Given the description of an element on the screen output the (x, y) to click on. 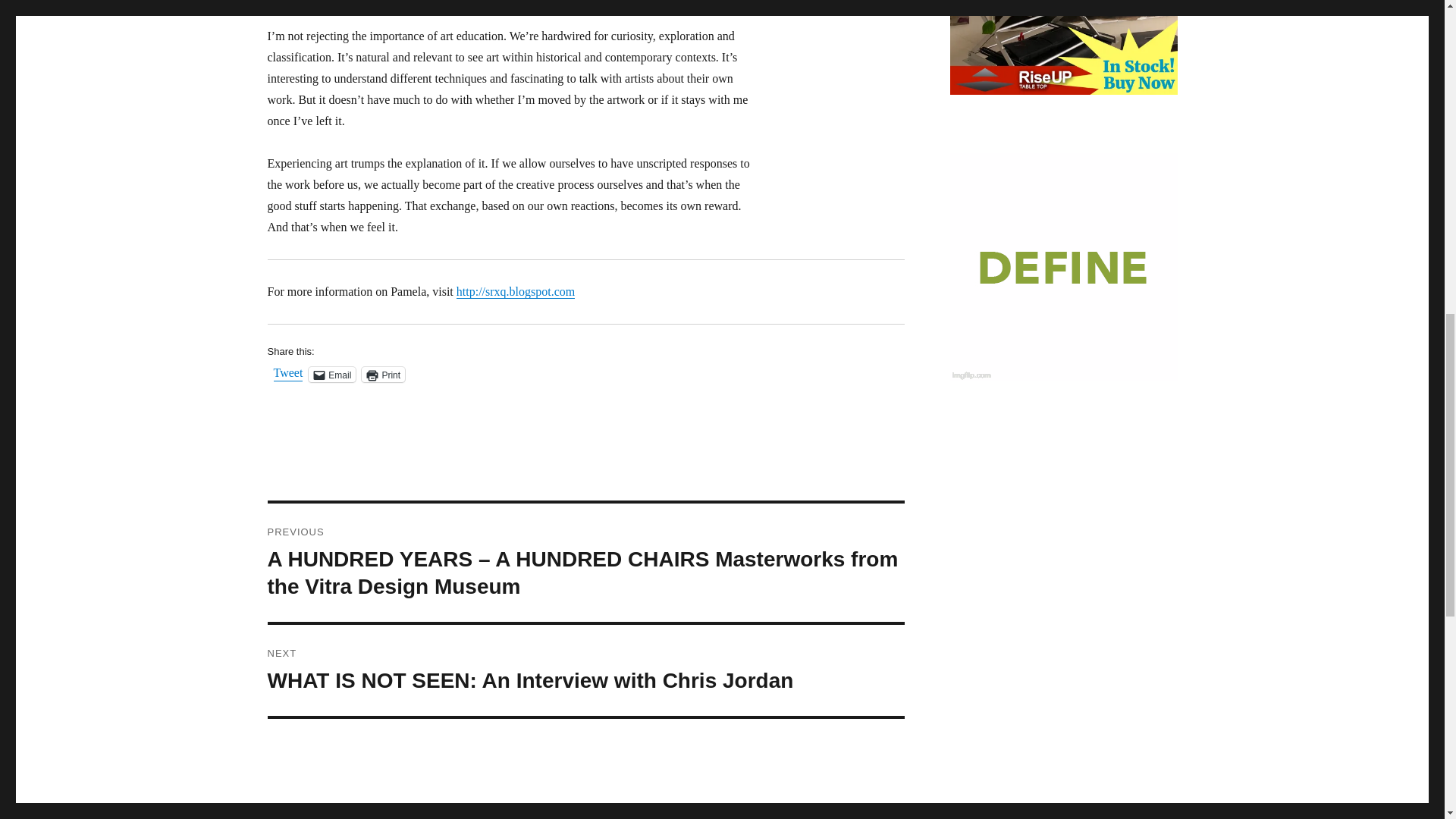
Click to print (382, 374)
Pamela Beck LinkIn (516, 291)
Print (382, 374)
Tweet (287, 373)
Sarasota Web Design (1062, 266)
Email (331, 374)
Click to email a link to a friend (331, 374)
